Given the description of an element on the screen output the (x, y) to click on. 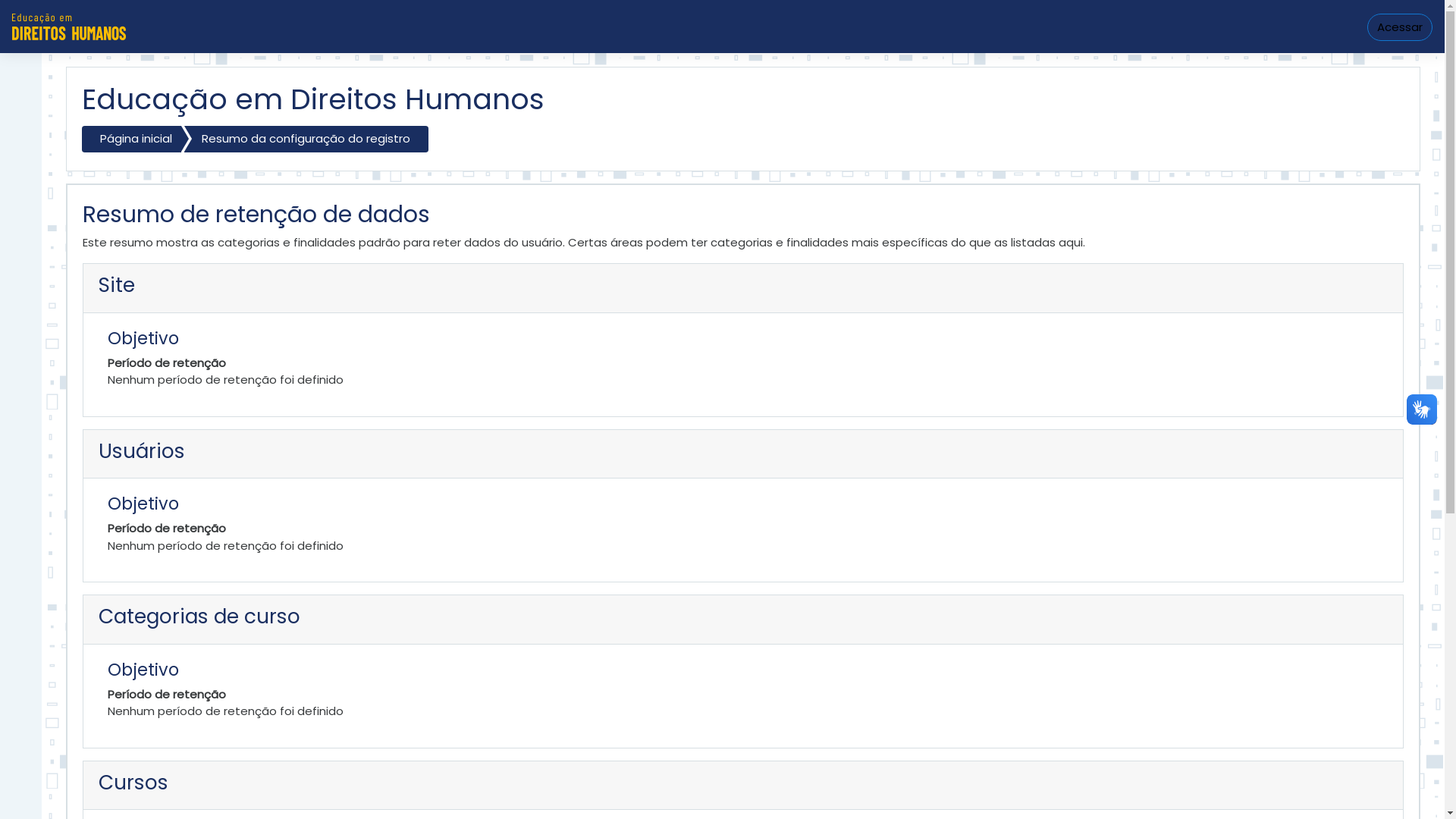
Acessar Element type: text (1399, 27)
